Given the description of an element on the screen output the (x, y) to click on. 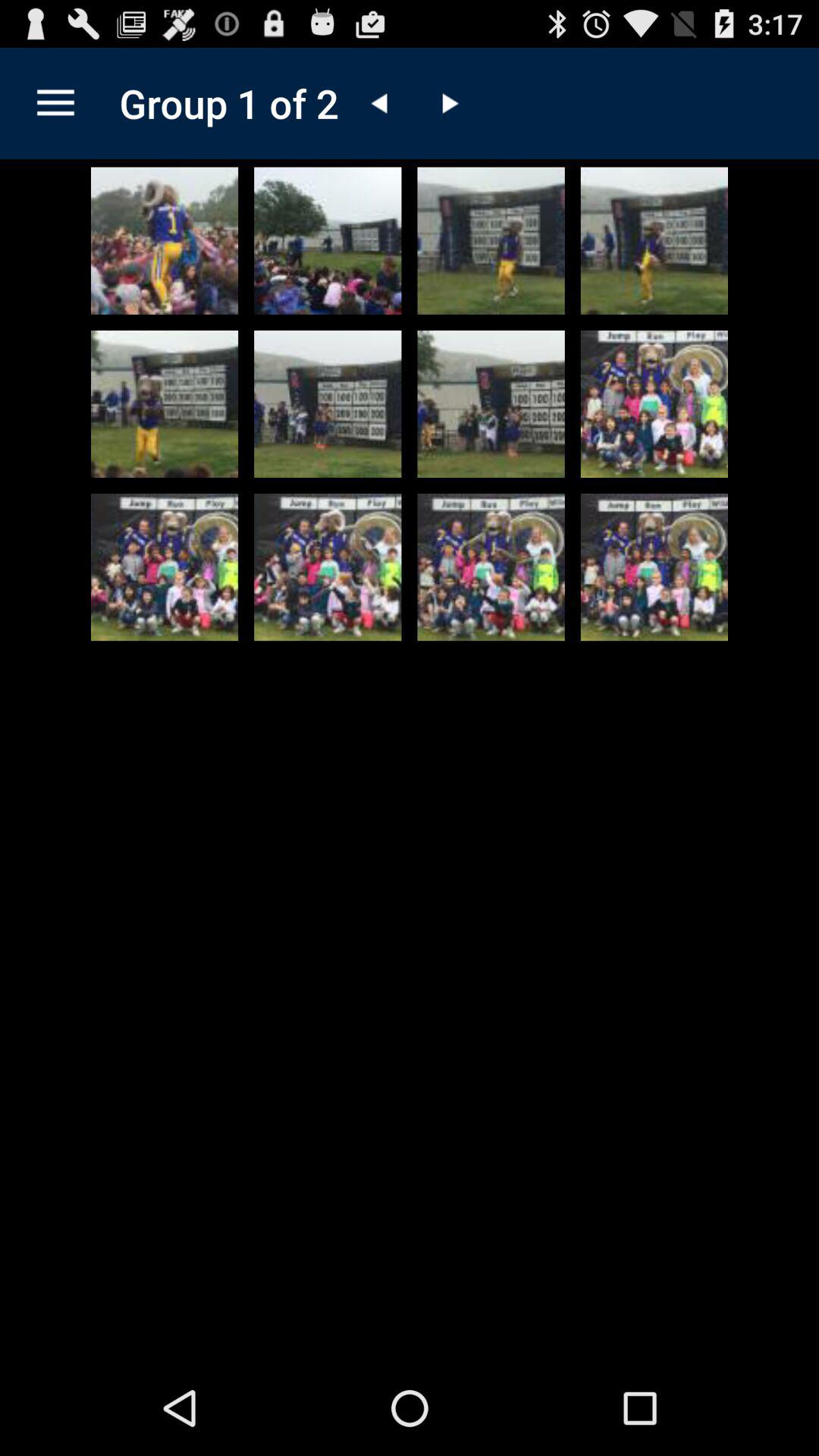
select picture (164, 566)
